Given the description of an element on the screen output the (x, y) to click on. 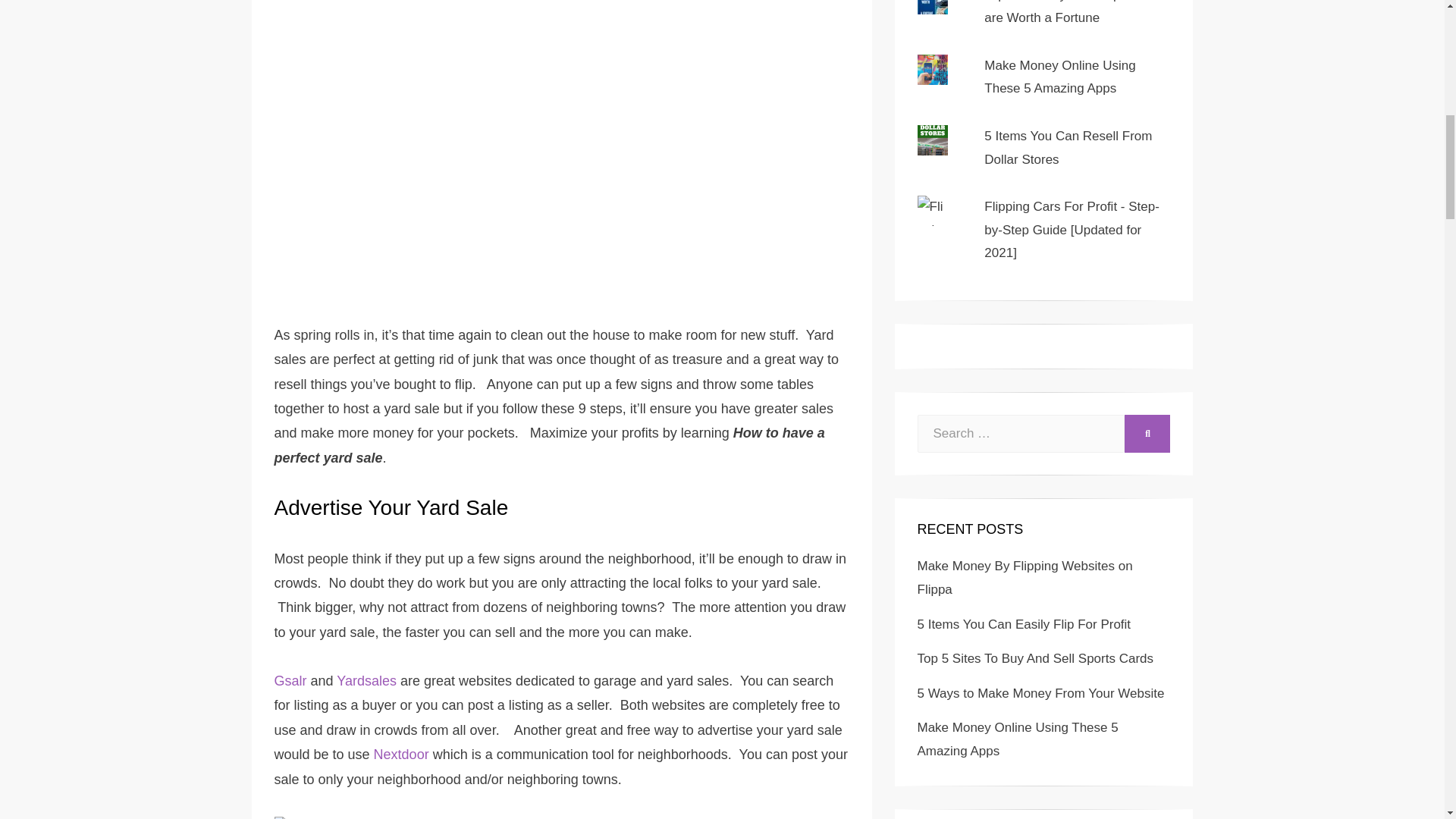
Gsalr (291, 680)
Nextdoor (401, 754)
Yardsales (366, 680)
